Given the description of an element on the screen output the (x, y) to click on. 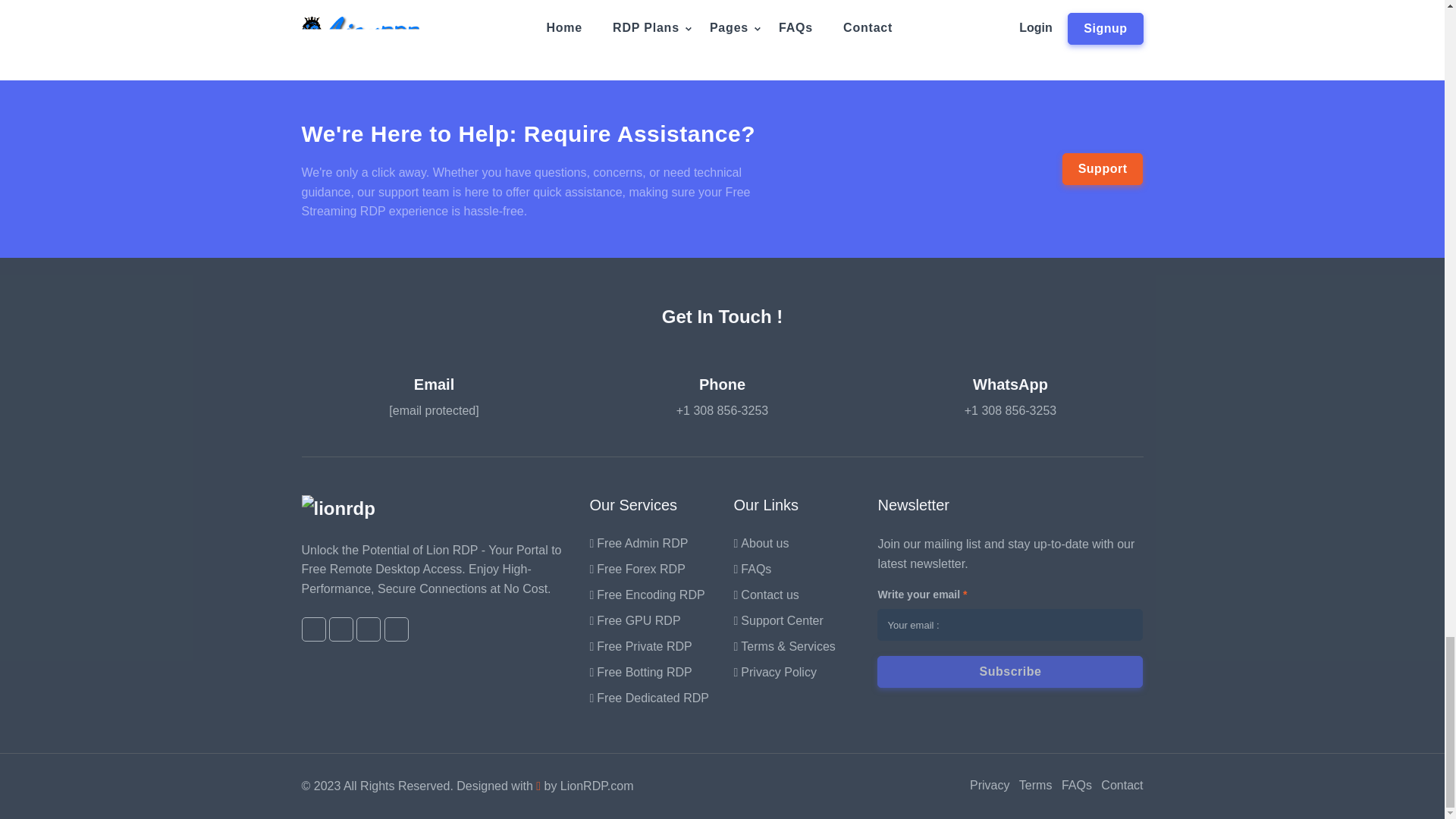
Support (1102, 169)
Subscribe (1009, 671)
